Given the description of an element on the screen output the (x, y) to click on. 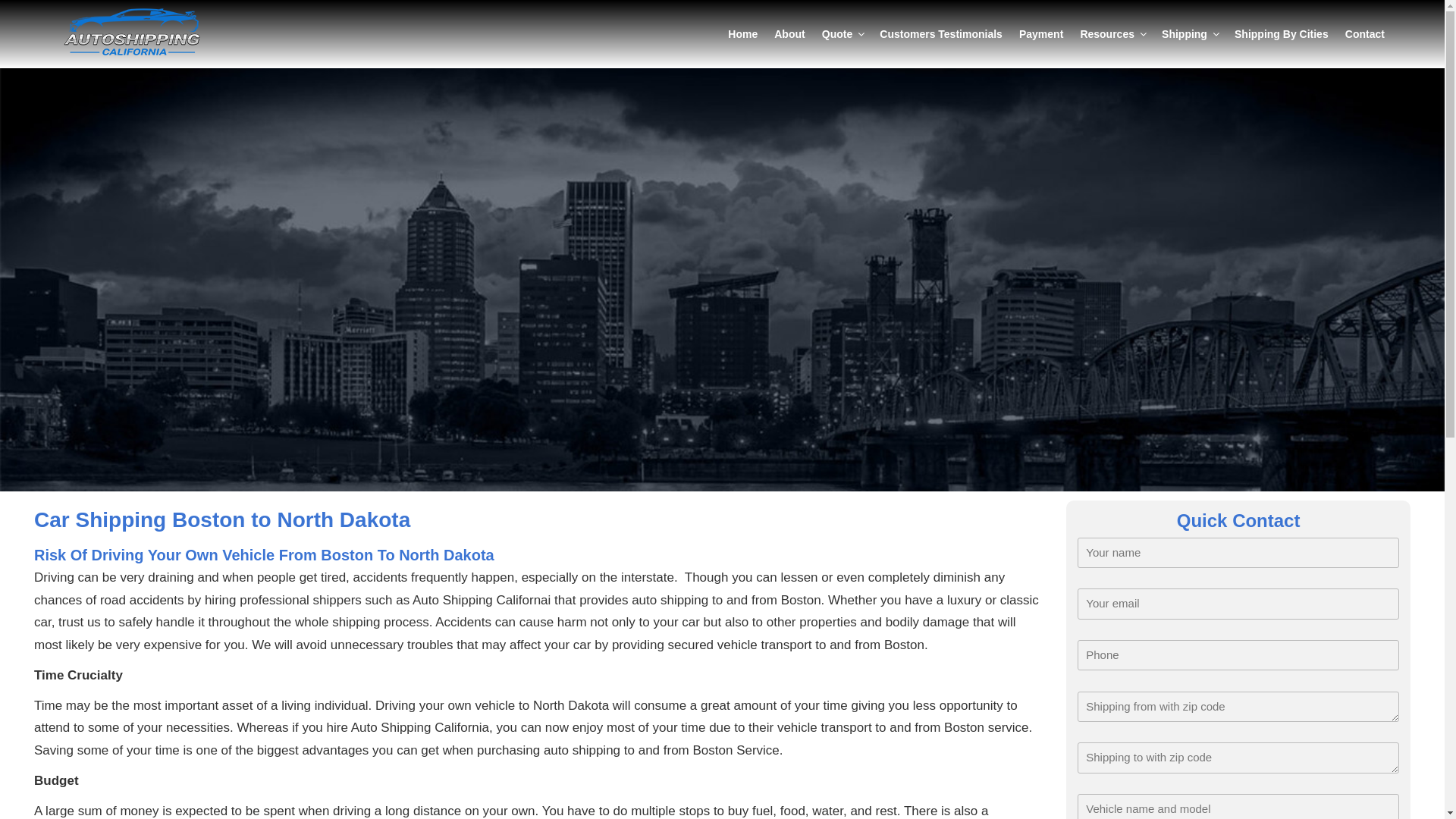
Customers Testimonials (940, 33)
Resources (1112, 33)
Shipping By Cities (1281, 33)
Shipping (1189, 33)
AUTOSHIPPING CALIFORNIA (102, 7)
